Given the description of an element on the screen output the (x, y) to click on. 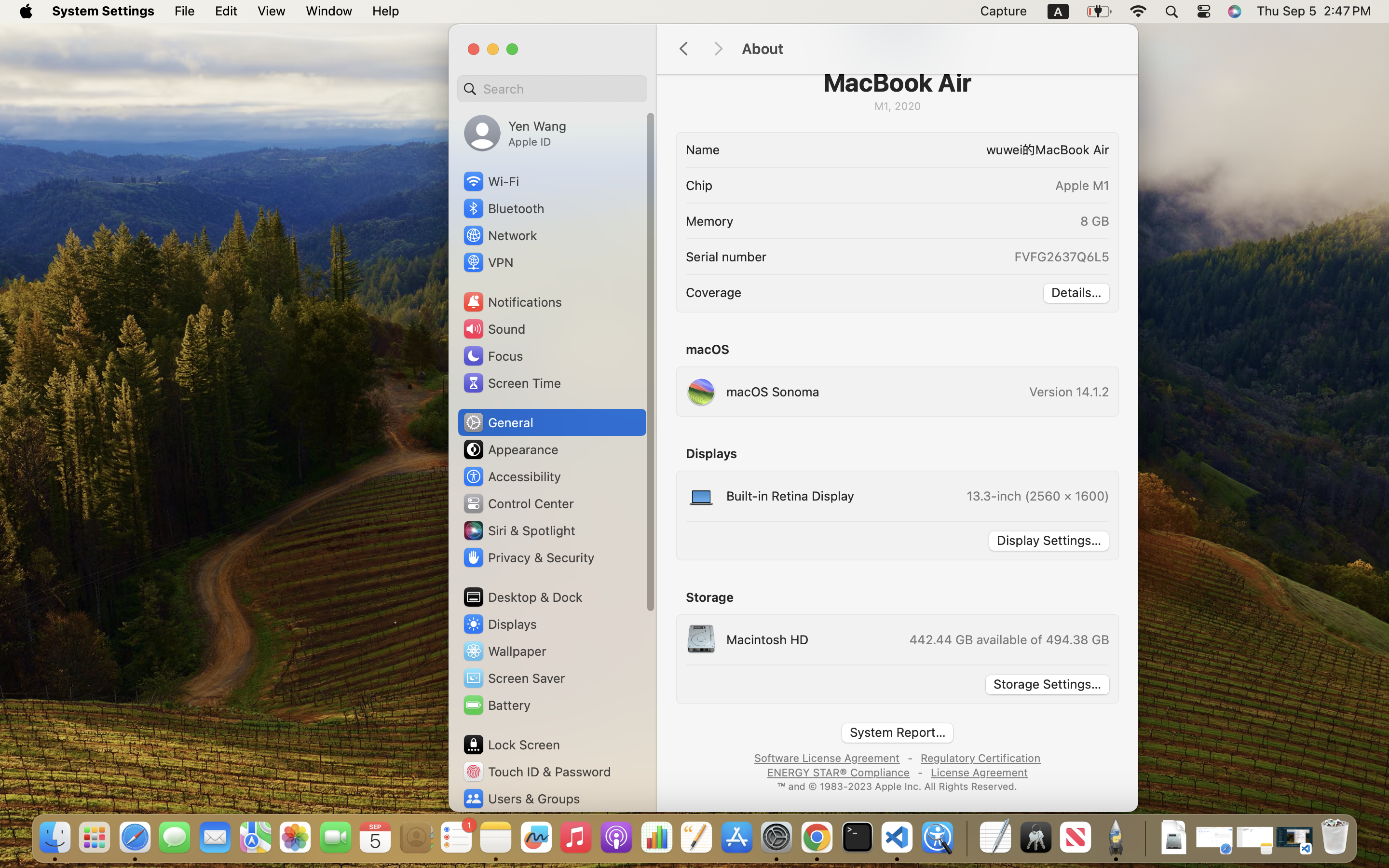
Desktop & Dock Element type: AXStaticText (522, 596)
Bluetooth Element type: AXStaticText (503, 207)
ENERGY STAR® Compliance Element type: AXStaticText (837, 771)
Screen Saver Element type: AXStaticText (513, 677)
Apple M1 Element type: AXStaticText (1082, 184)
